Given the description of an element on the screen output the (x, y) to click on. 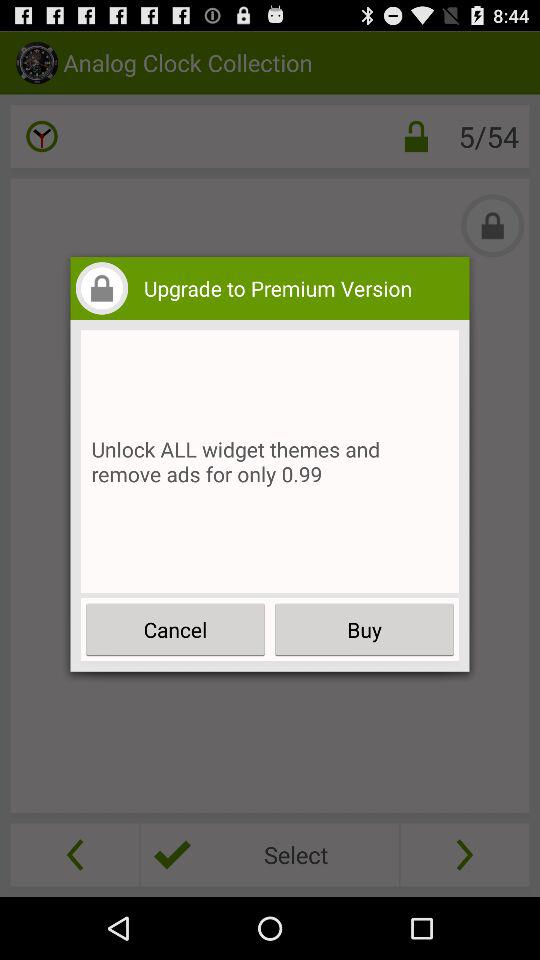
jump to buy (364, 629)
